Given the description of an element on the screen output the (x, y) to click on. 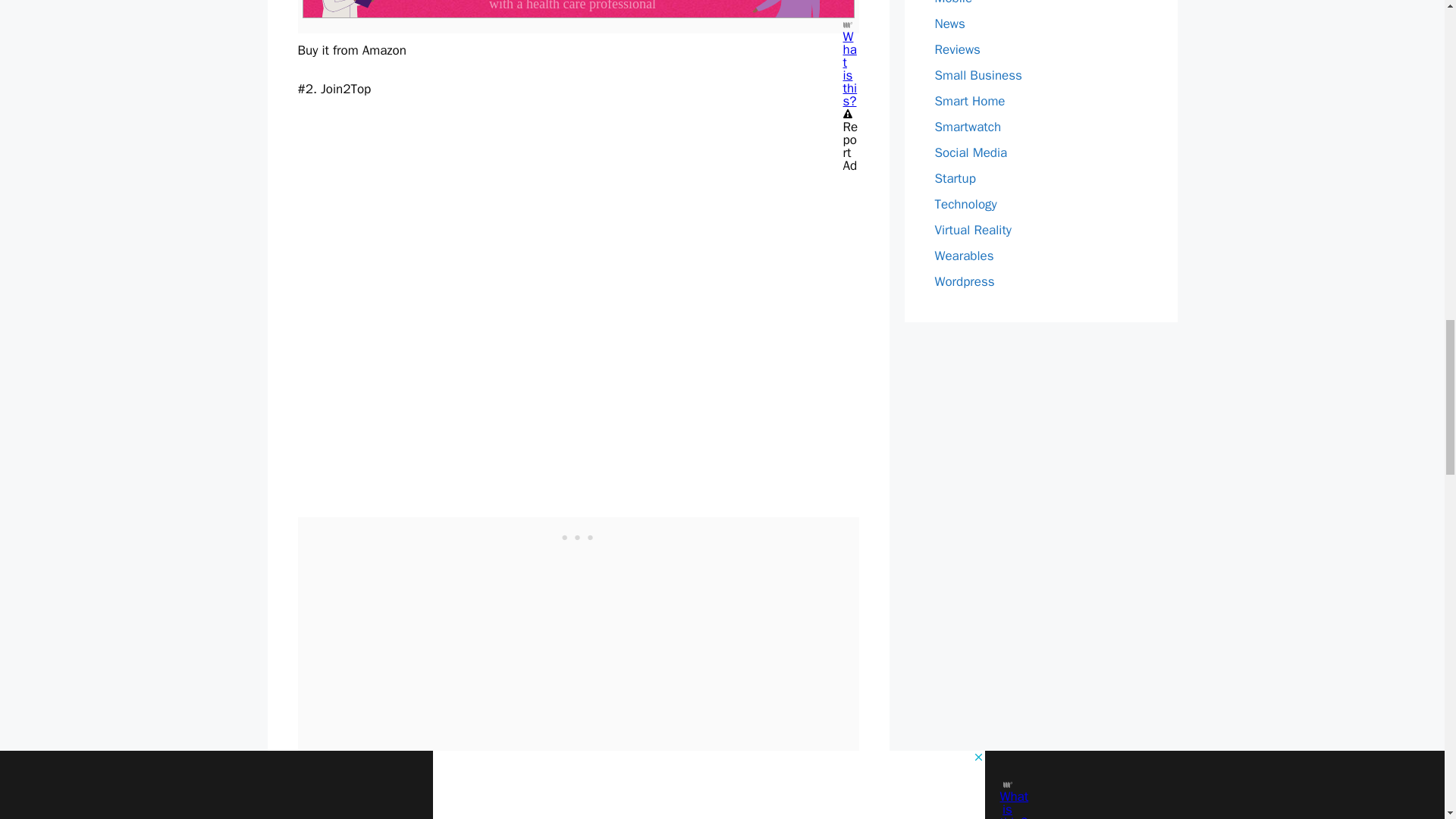
3rd party ad content (577, 535)
